Given the description of an element on the screen output the (x, y) to click on. 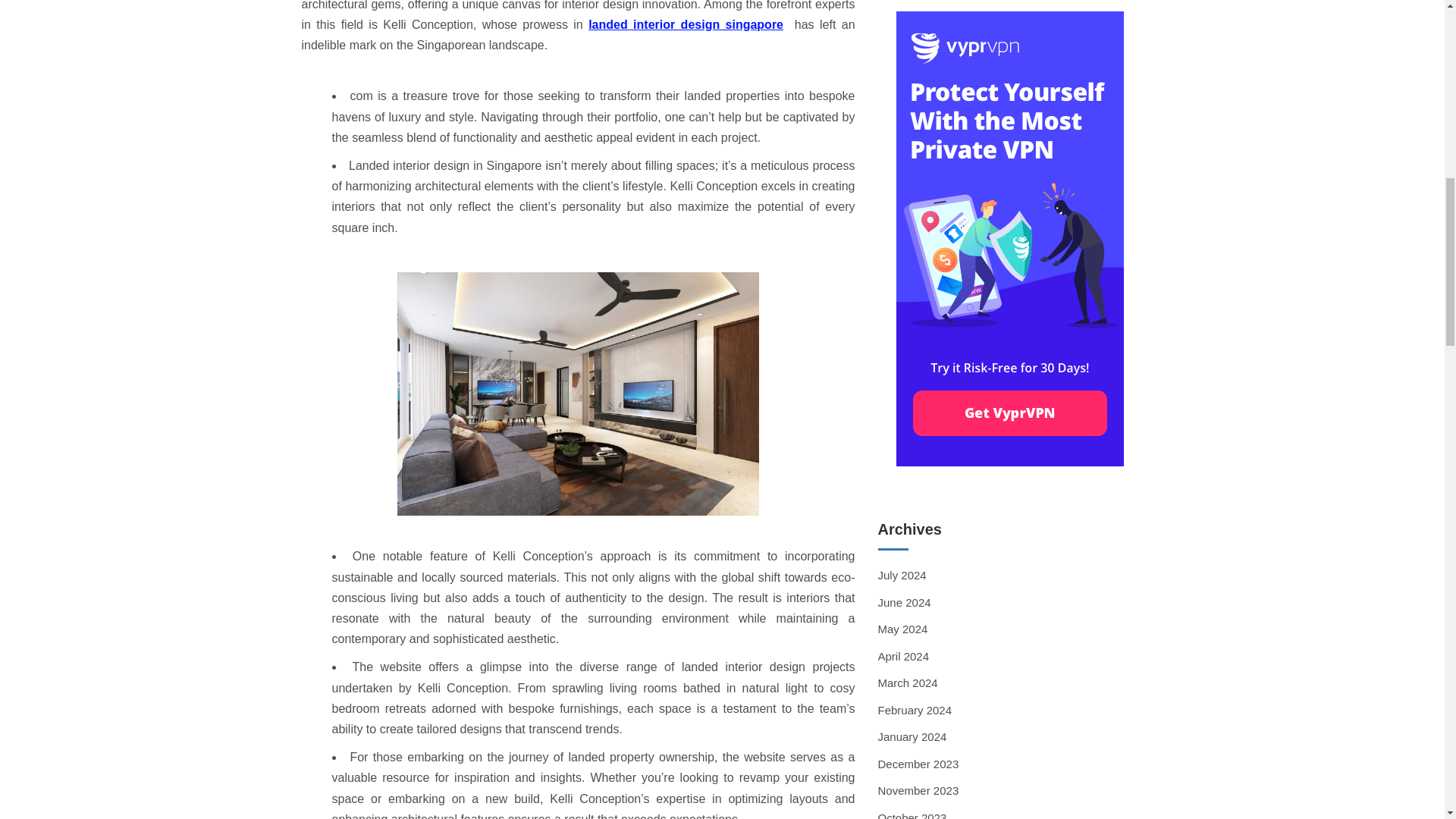
landed interior design singapore (685, 24)
